Given the description of an element on the screen output the (x, y) to click on. 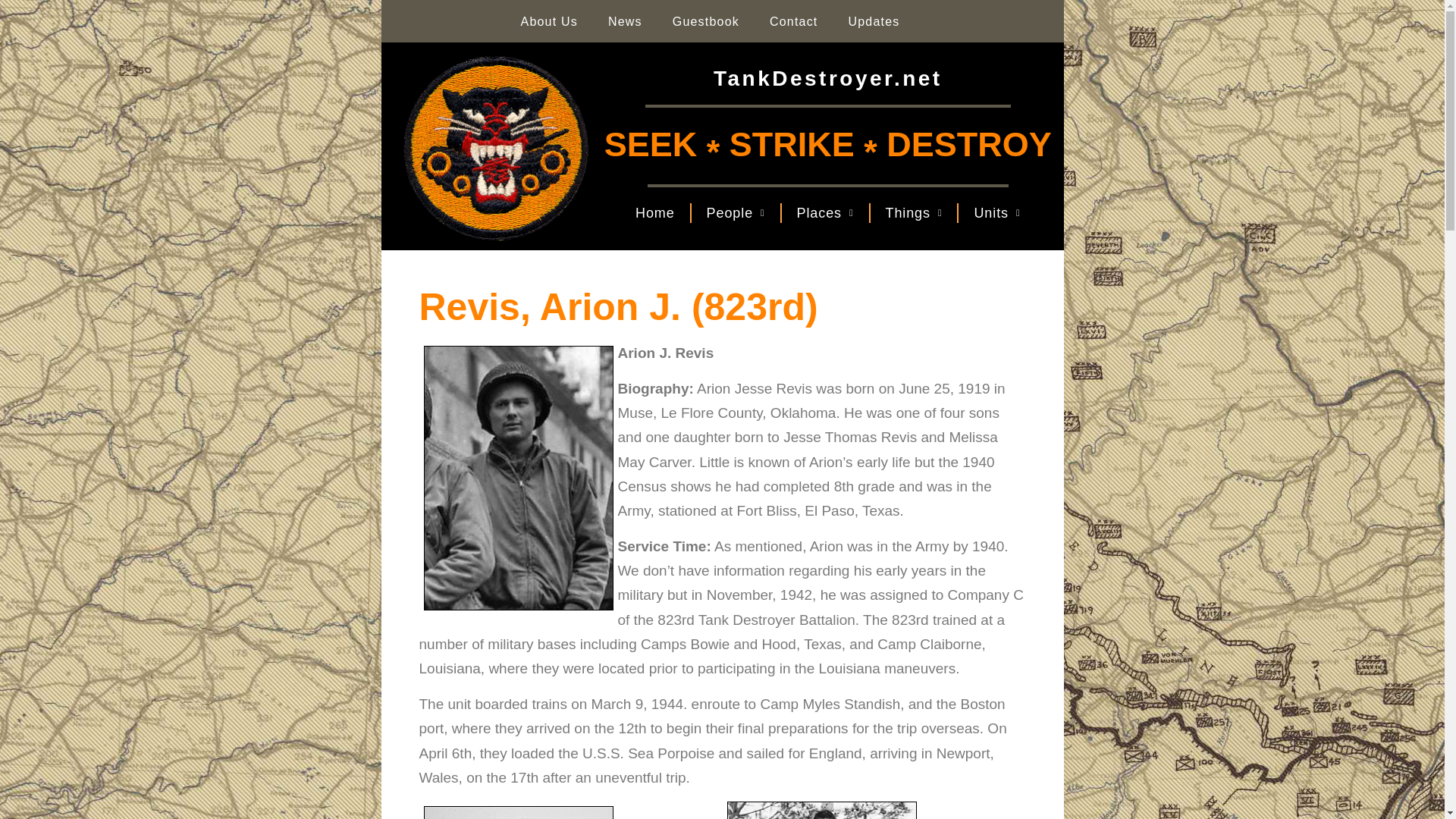
Guestbook (706, 21)
People (735, 213)
Updates (873, 21)
Home (655, 213)
News (625, 21)
Places (825, 213)
Contact (793, 21)
About Us (548, 21)
Things (914, 213)
